Given the description of an element on the screen output the (x, y) to click on. 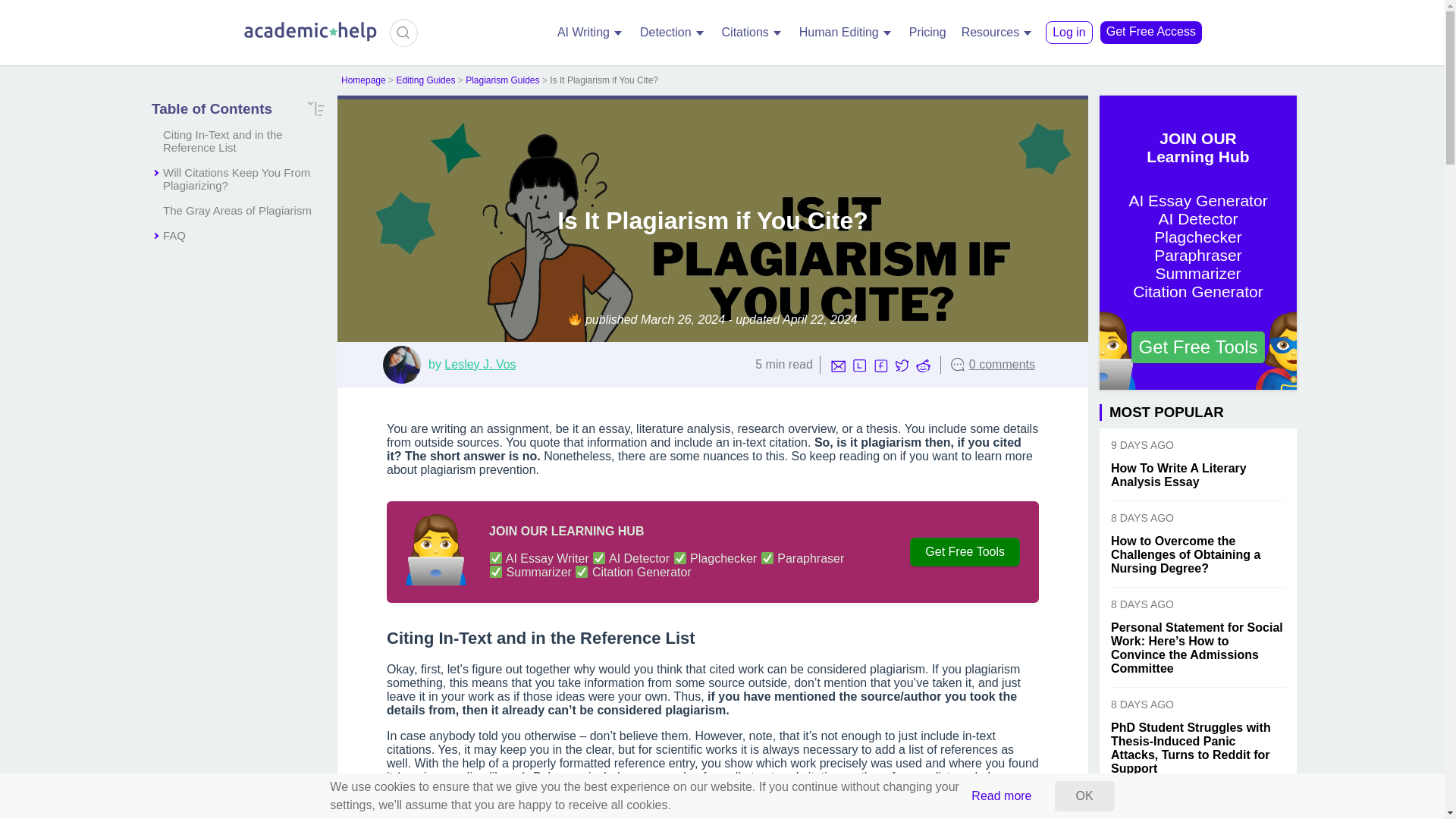
Go to AcademicHelp.net. (362, 80)
Human Editing (846, 32)
Resources (997, 32)
AcademicHelp.net (310, 38)
AI Writing (590, 32)
Get Free Access (1151, 32)
Log in (1069, 32)
Detection (672, 32)
Citations (753, 32)
